Given the description of an element on the screen output the (x, y) to click on. 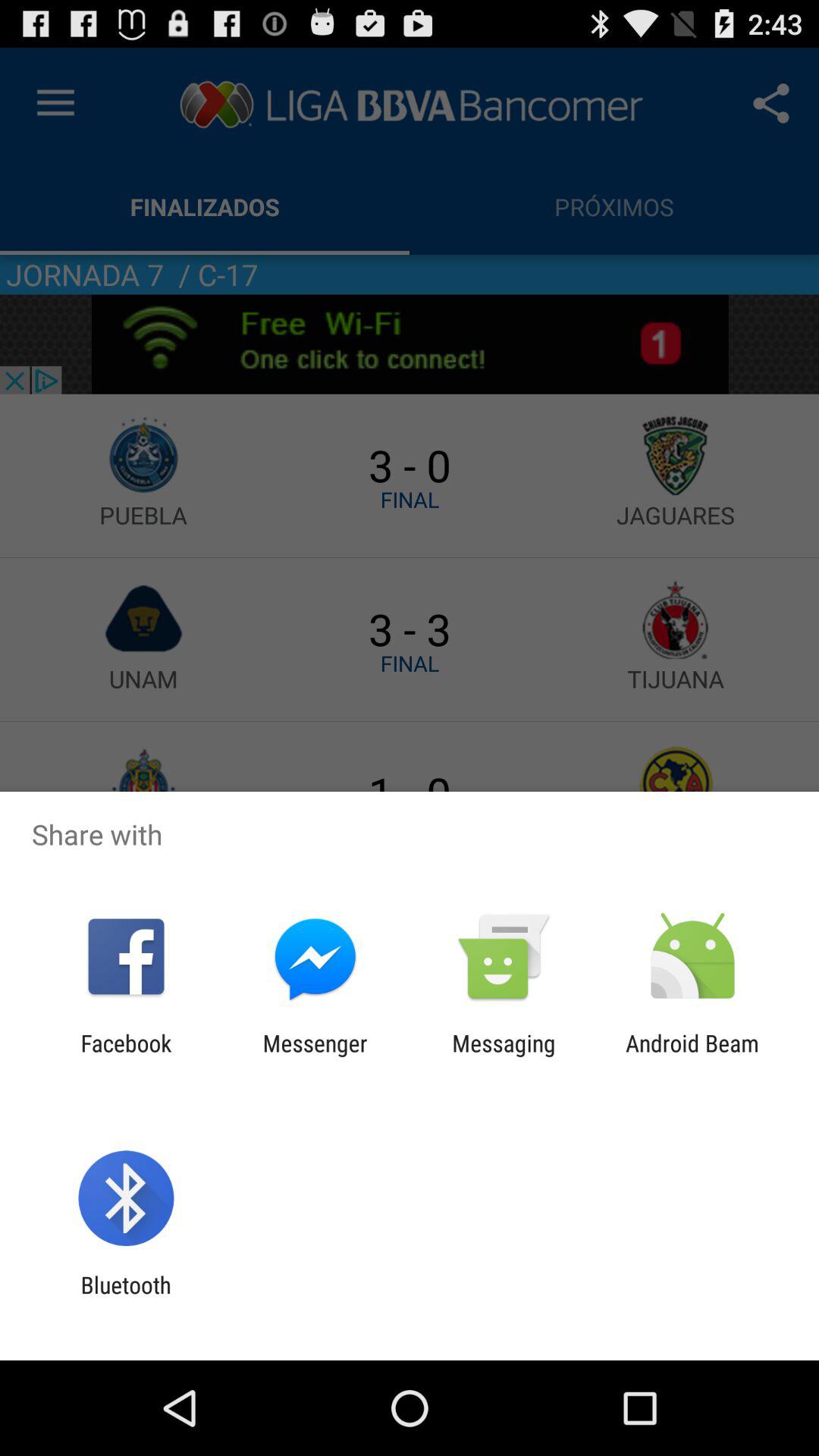
tap app to the right of facebook app (314, 1056)
